Given the description of an element on the screen output the (x, y) to click on. 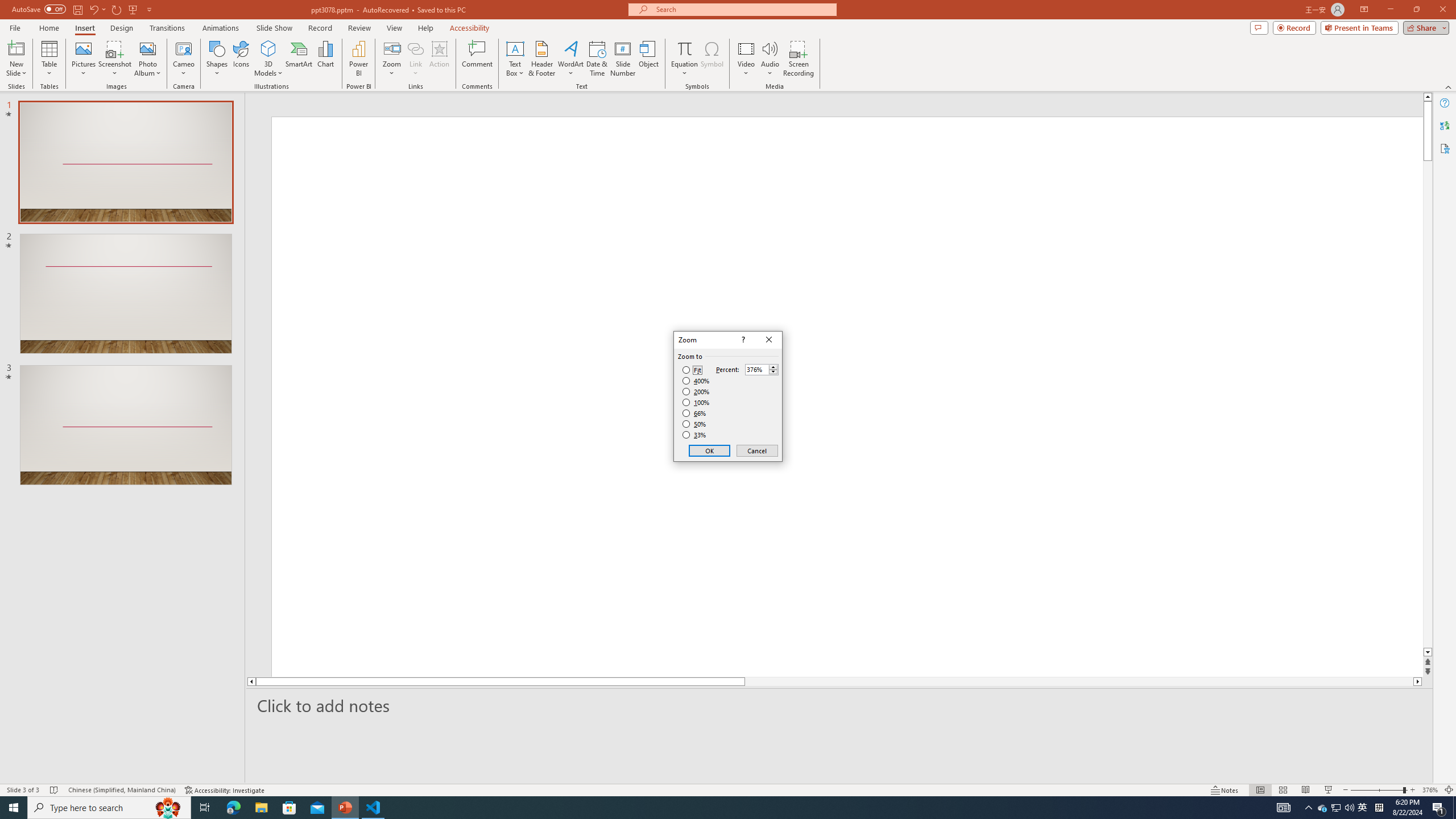
New Photo Album... (147, 48)
Comment (476, 58)
SmartArt... (298, 58)
Percent (756, 369)
Date & Time... (596, 58)
